Given the description of an element on the screen output the (x, y) to click on. 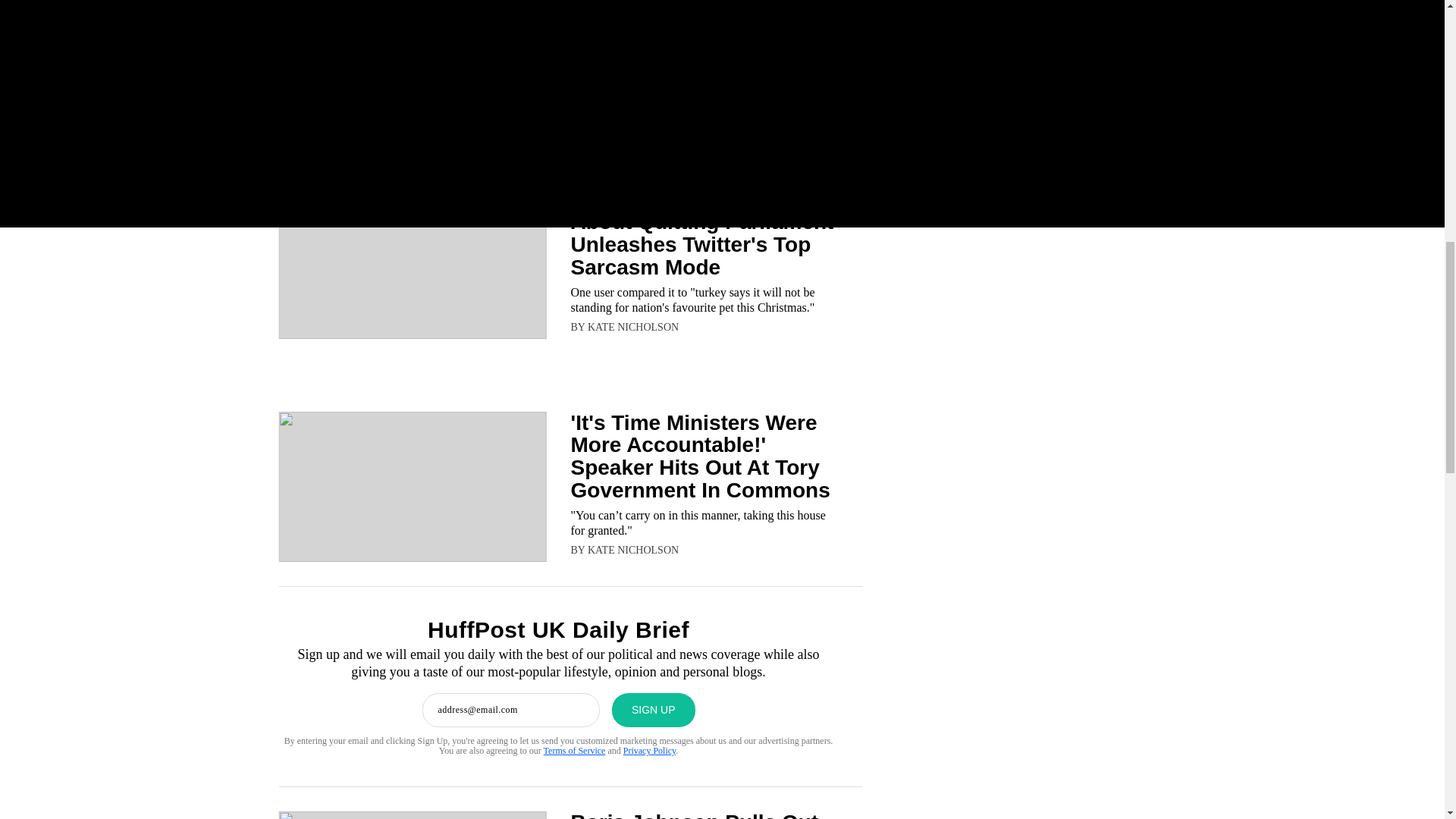
SIGN UP (653, 709)
